Given the description of an element on the screen output the (x, y) to click on. 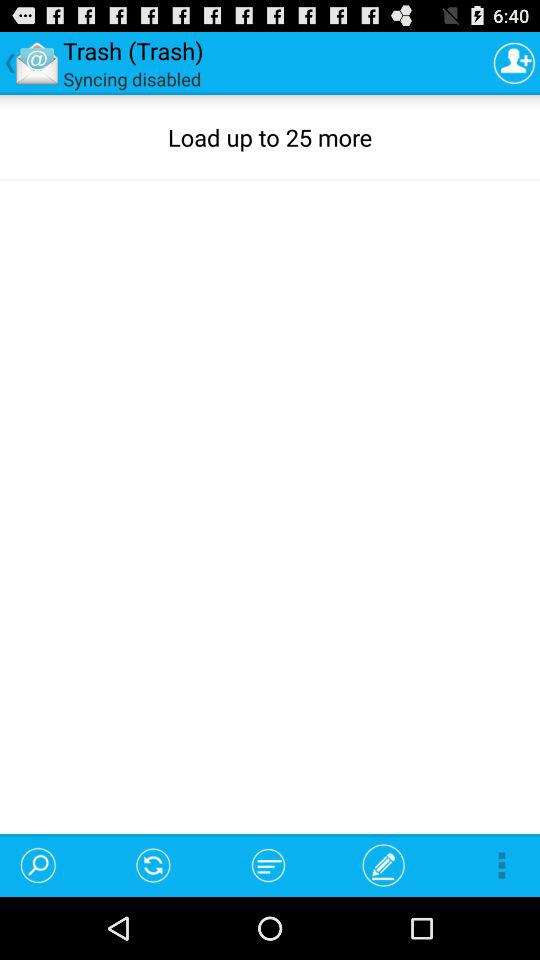
select the item next to trash (trash) (514, 62)
